Given the description of an element on the screen output the (x, y) to click on. 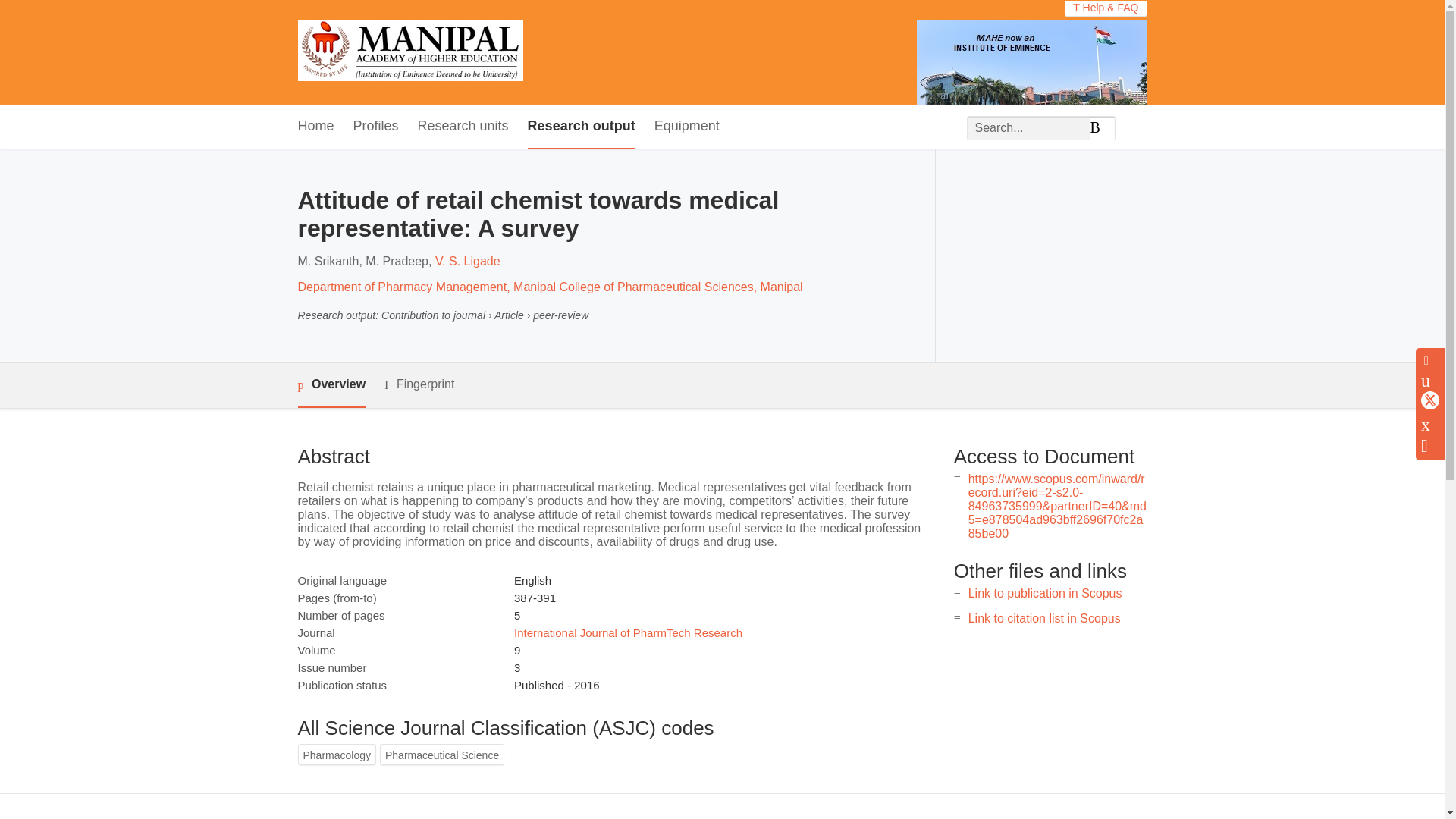
Research output (580, 126)
Research units (462, 126)
Overview (331, 385)
Equipment (686, 126)
Home (315, 126)
Link to citation list in Scopus (1044, 617)
Profiles (375, 126)
International Journal of PharmTech Research (627, 632)
Fingerprint (419, 384)
Link to publication in Scopus (1045, 593)
V. S. Ligade (467, 260)
Manipal Academy of Higher Education, Manipal, India Home (409, 52)
